Given the description of an element on the screen output the (x, y) to click on. 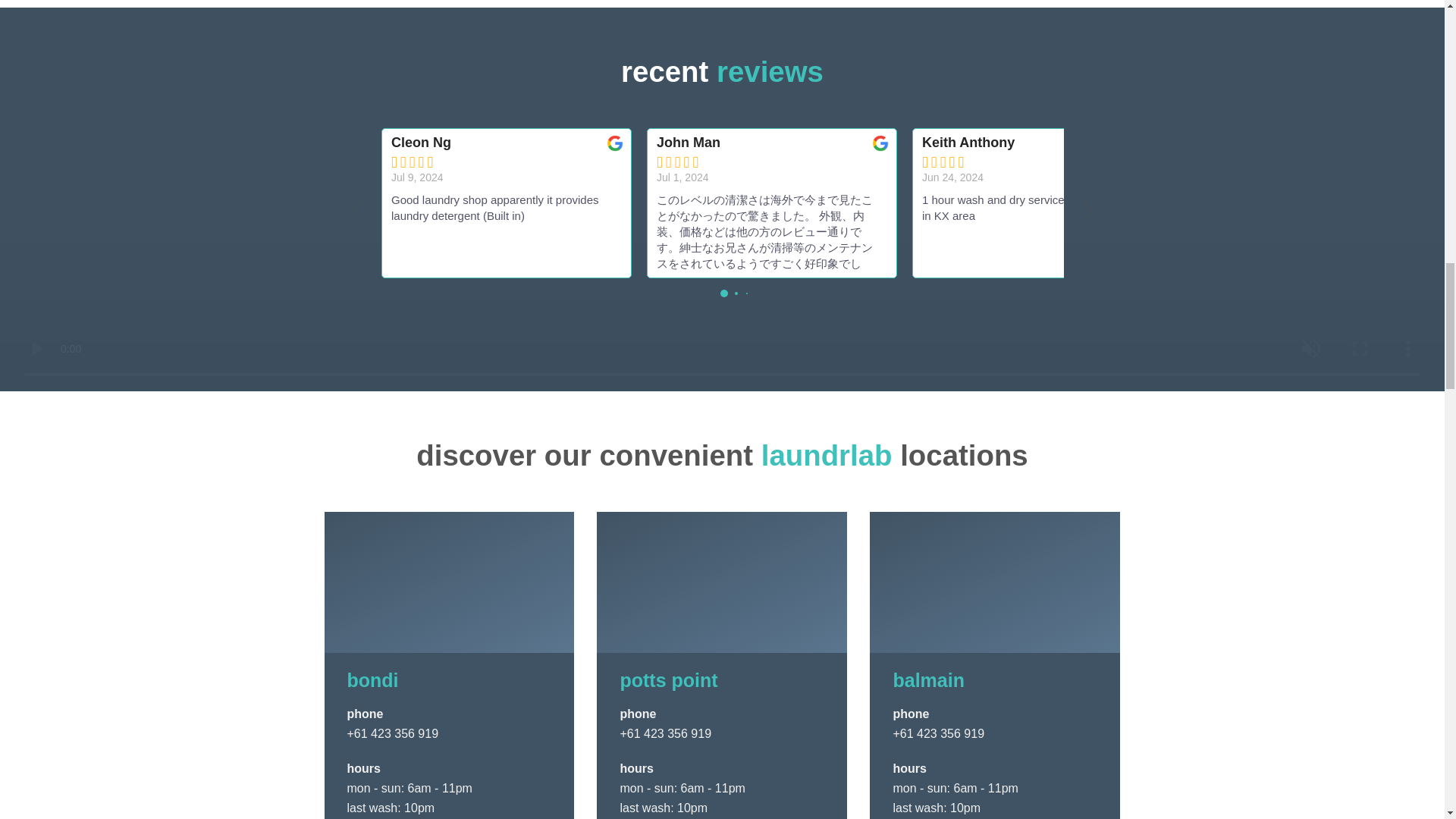
bondi (372, 680)
potts point (668, 680)
